Given the description of an element on the screen output the (x, y) to click on. 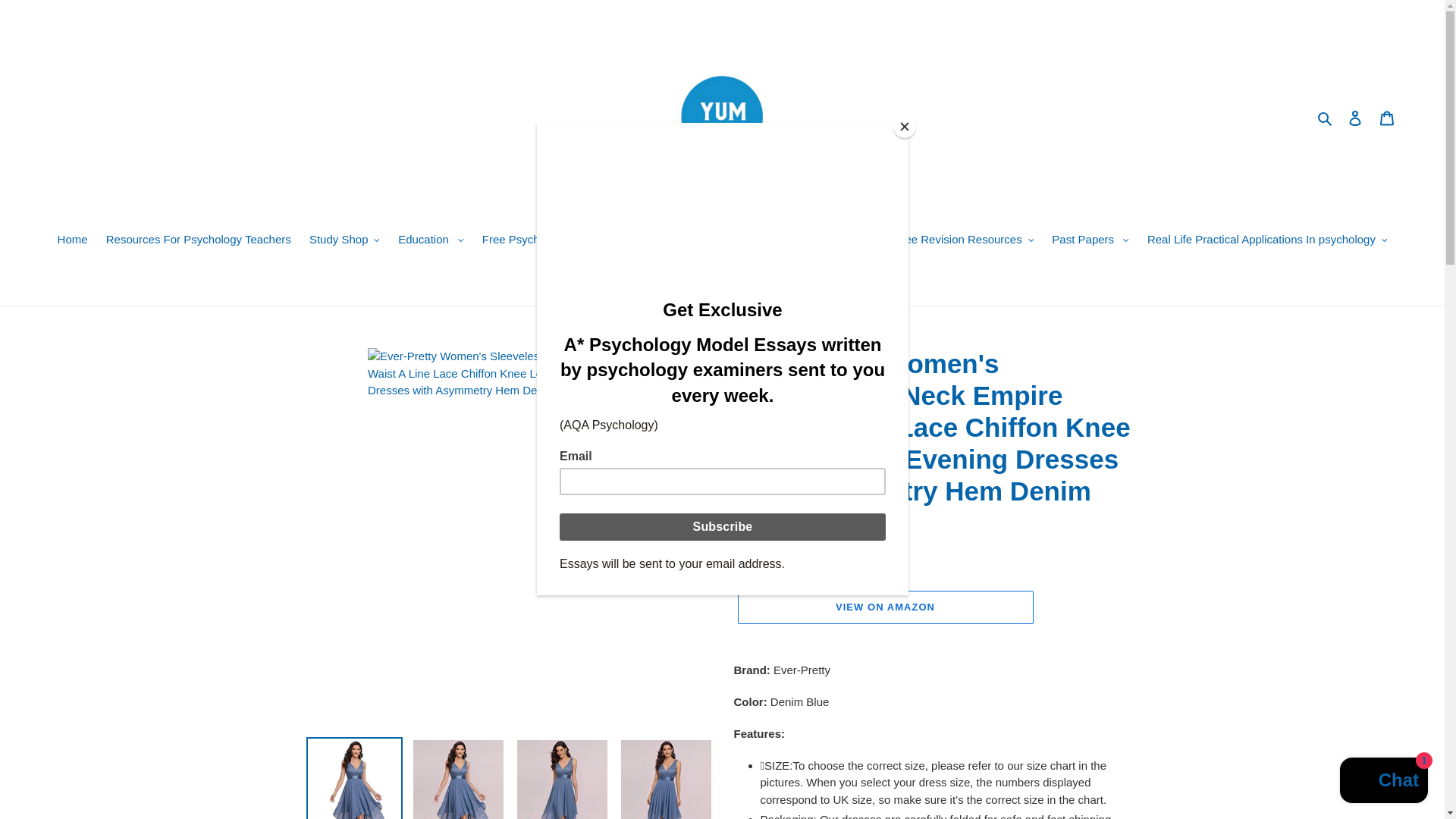
Cart (1387, 117)
Log in (1355, 117)
Shopify online store chat (1383, 781)
Search (1326, 117)
